Given the description of an element on the screen output the (x, y) to click on. 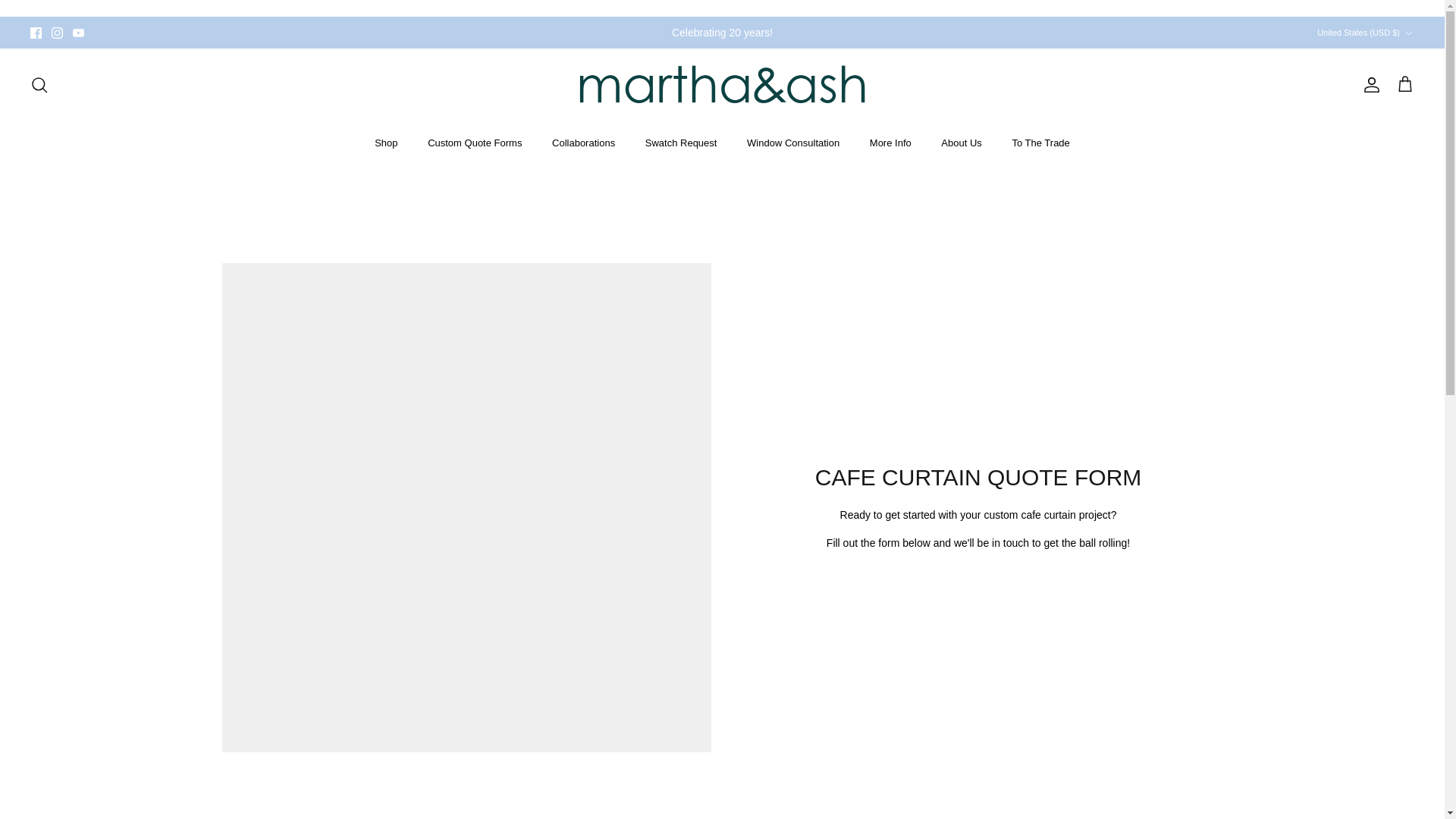
Instagram (56, 32)
Youtube (78, 32)
Instagram (56, 32)
Martha and Ash (721, 84)
Youtube (78, 32)
Facebook (36, 32)
Facebook (36, 32)
Down (1408, 32)
